Given the description of an element on the screen output the (x, y) to click on. 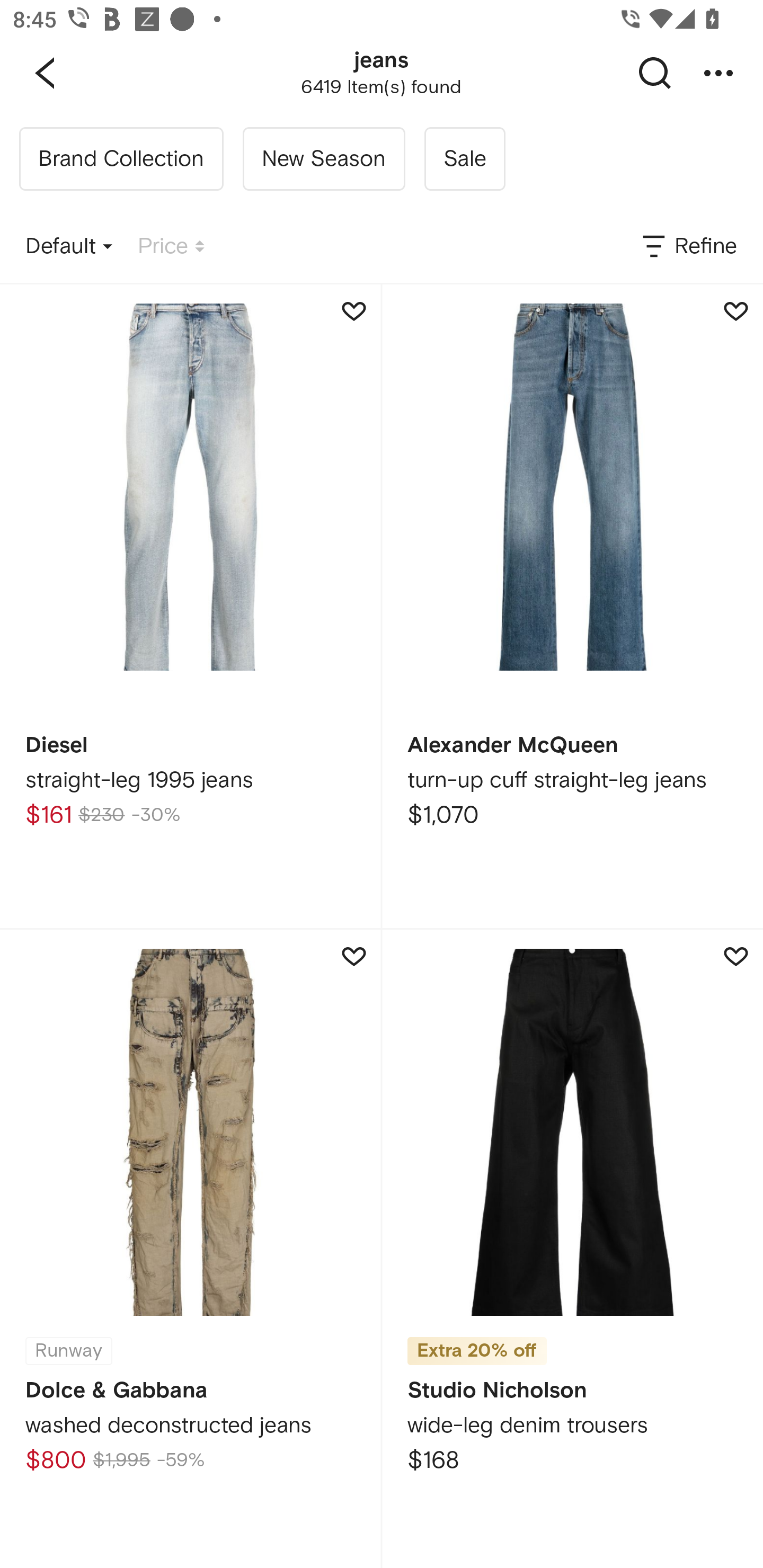
Brand Collection (121, 158)
New Season (323, 158)
Sale (464, 158)
Default (68, 246)
Price (171, 246)
Refine (688, 246)
Diesel straight-leg 1995 jeans $161 $230 -30% (190, 605)
Extra 20% off (477, 1344)
